Given the description of an element on the screen output the (x, y) to click on. 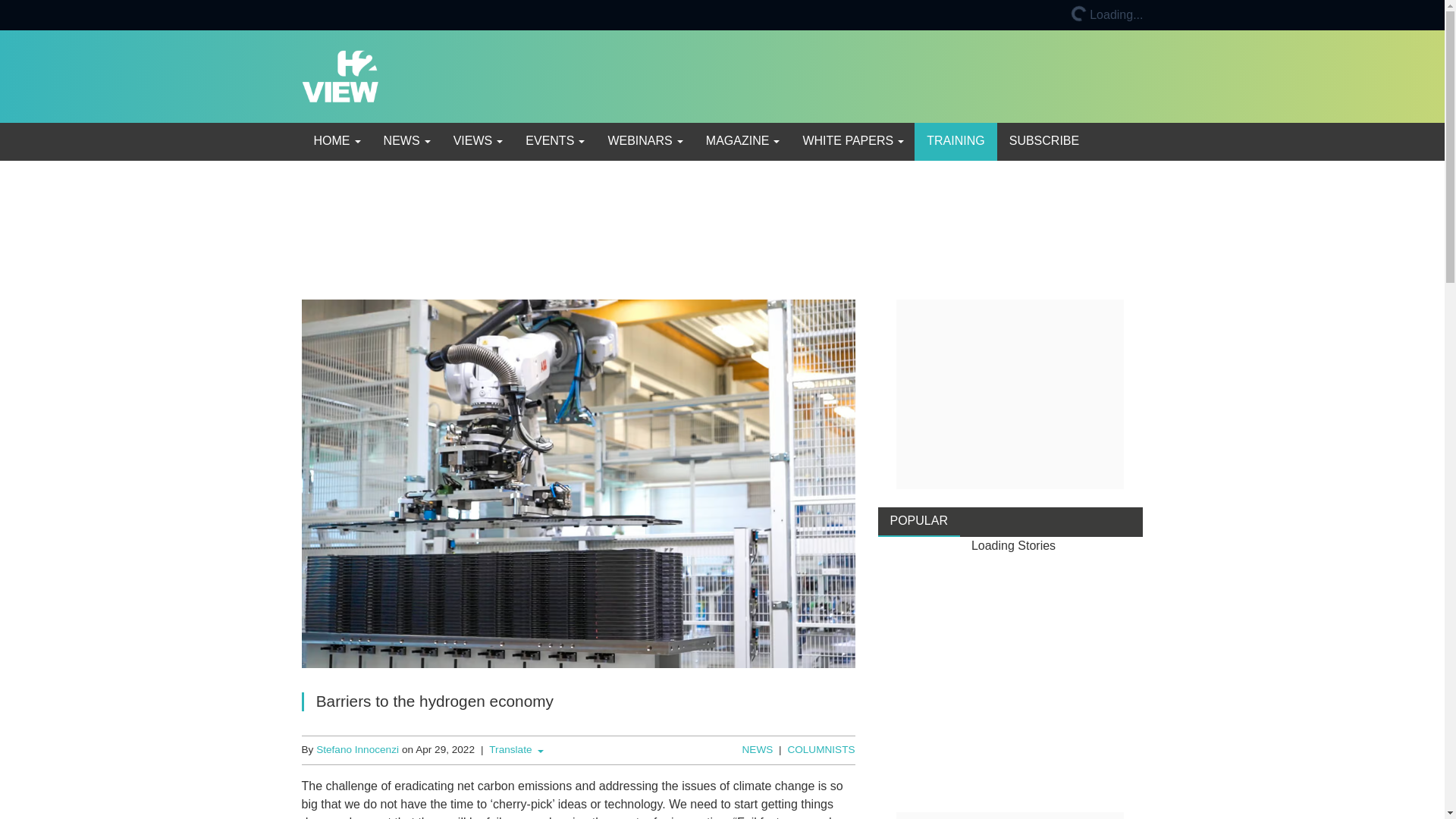
NEWS (406, 140)
Home (336, 140)
H2 View (339, 74)
News (406, 140)
VIEWS (477, 140)
HOME (336, 140)
